Given the description of an element on the screen output the (x, y) to click on. 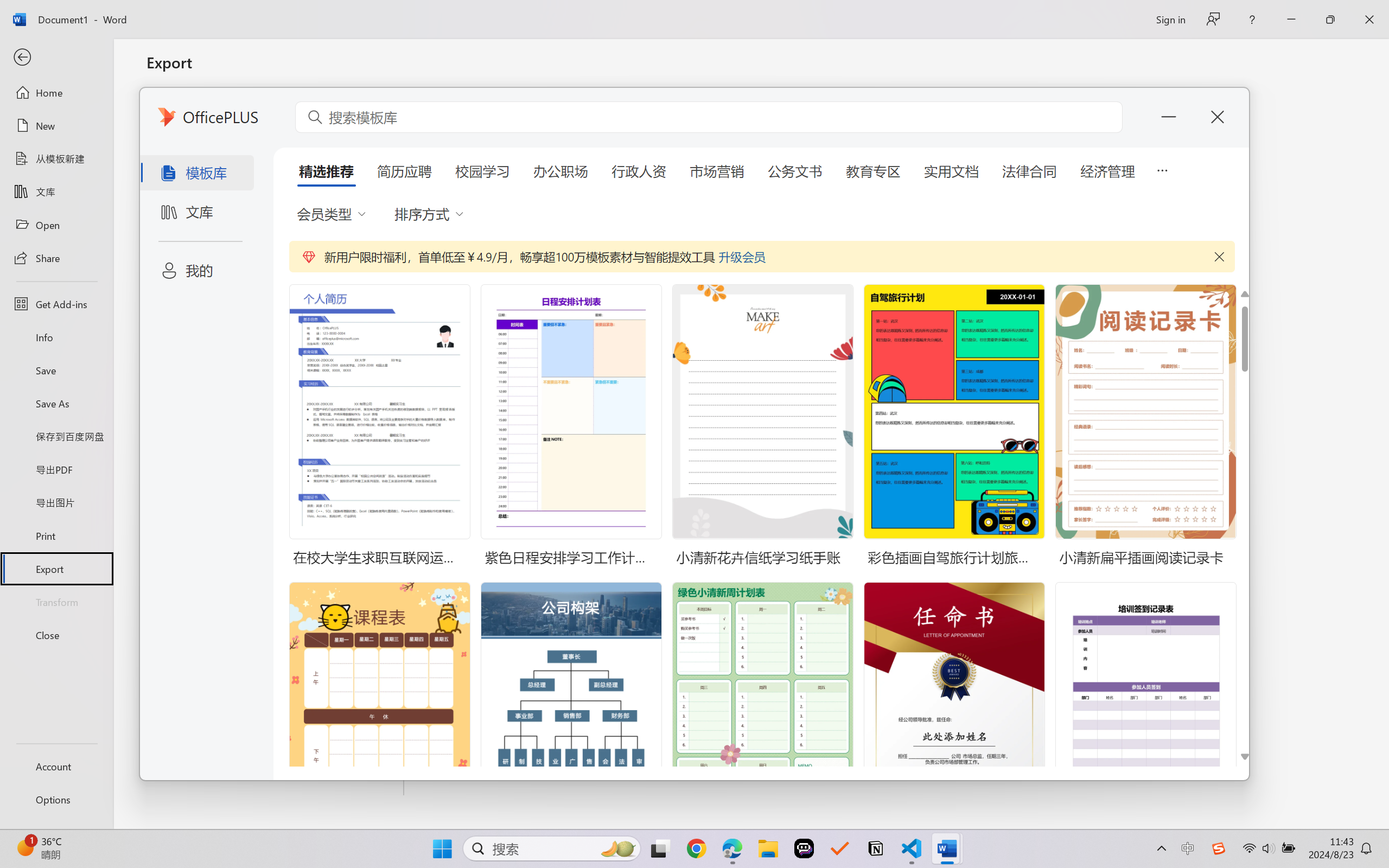
Print (56, 535)
